Given the description of an element on the screen output the (x, y) to click on. 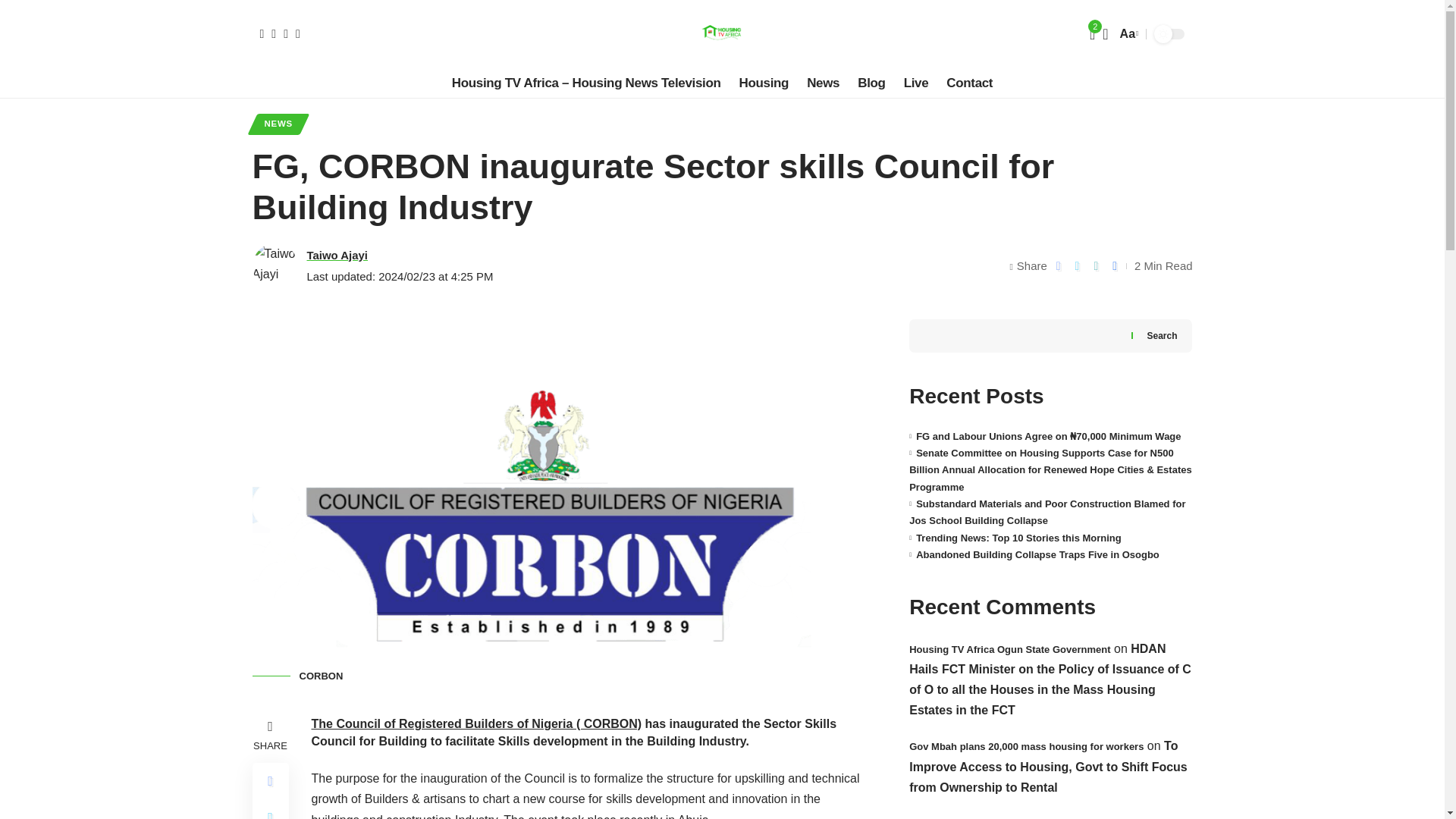
Contact (969, 82)
Housing TV Africa (721, 33)
Blog (870, 82)
News (822, 82)
Housing (763, 82)
Aa (1127, 33)
Live (916, 82)
